Given the description of an element on the screen output the (x, y) to click on. 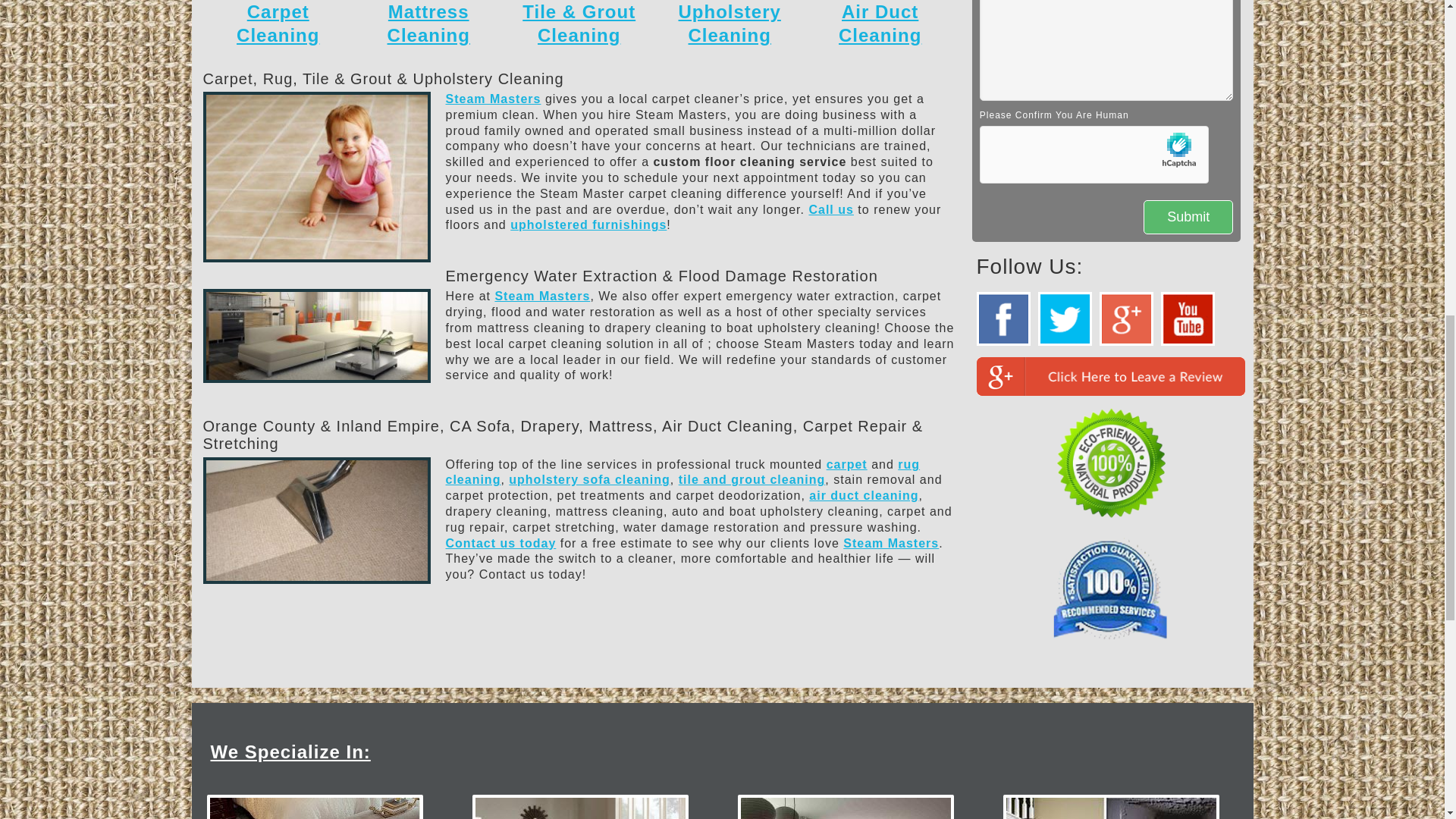
Mattress Cleaning (428, 23)
Carpet Cleaning (276, 23)
Submit (1187, 216)
Upholstery Cleaning (729, 23)
